Given the description of an element on the screen output the (x, y) to click on. 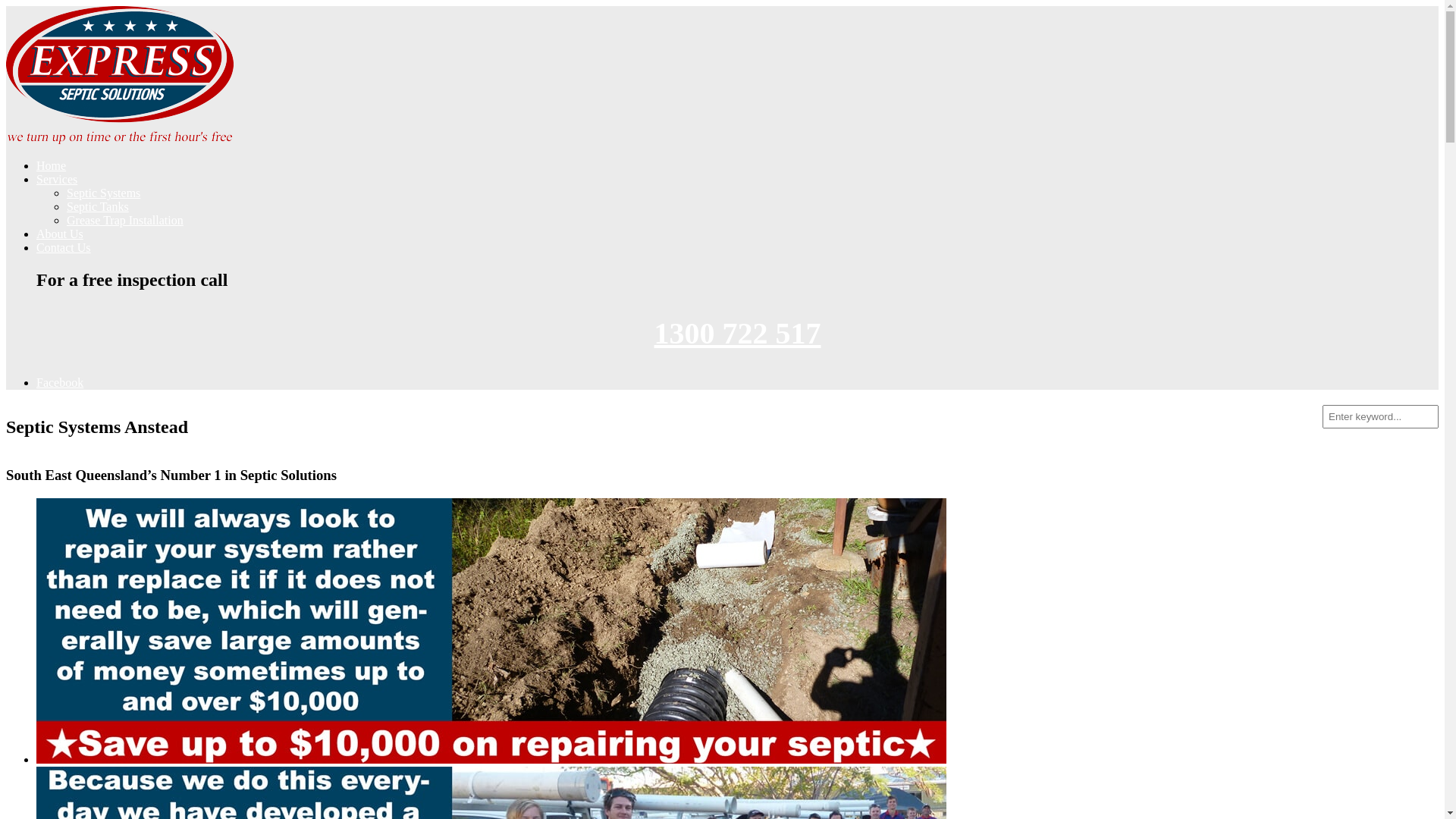
Grease Trap Installation Element type: text (124, 219)
Facebook Element type: text (59, 382)
Go Element type: text (12, 7)
Septic Systems Element type: text (103, 192)
Services Element type: text (56, 178)
1300 722 517 Element type: text (737, 333)
Septic Tanks Element type: text (97, 206)
About Us Element type: text (59, 233)
Contact Us Element type: text (63, 247)
Home Element type: text (50, 165)
